Given the description of an element on the screen output the (x, y) to click on. 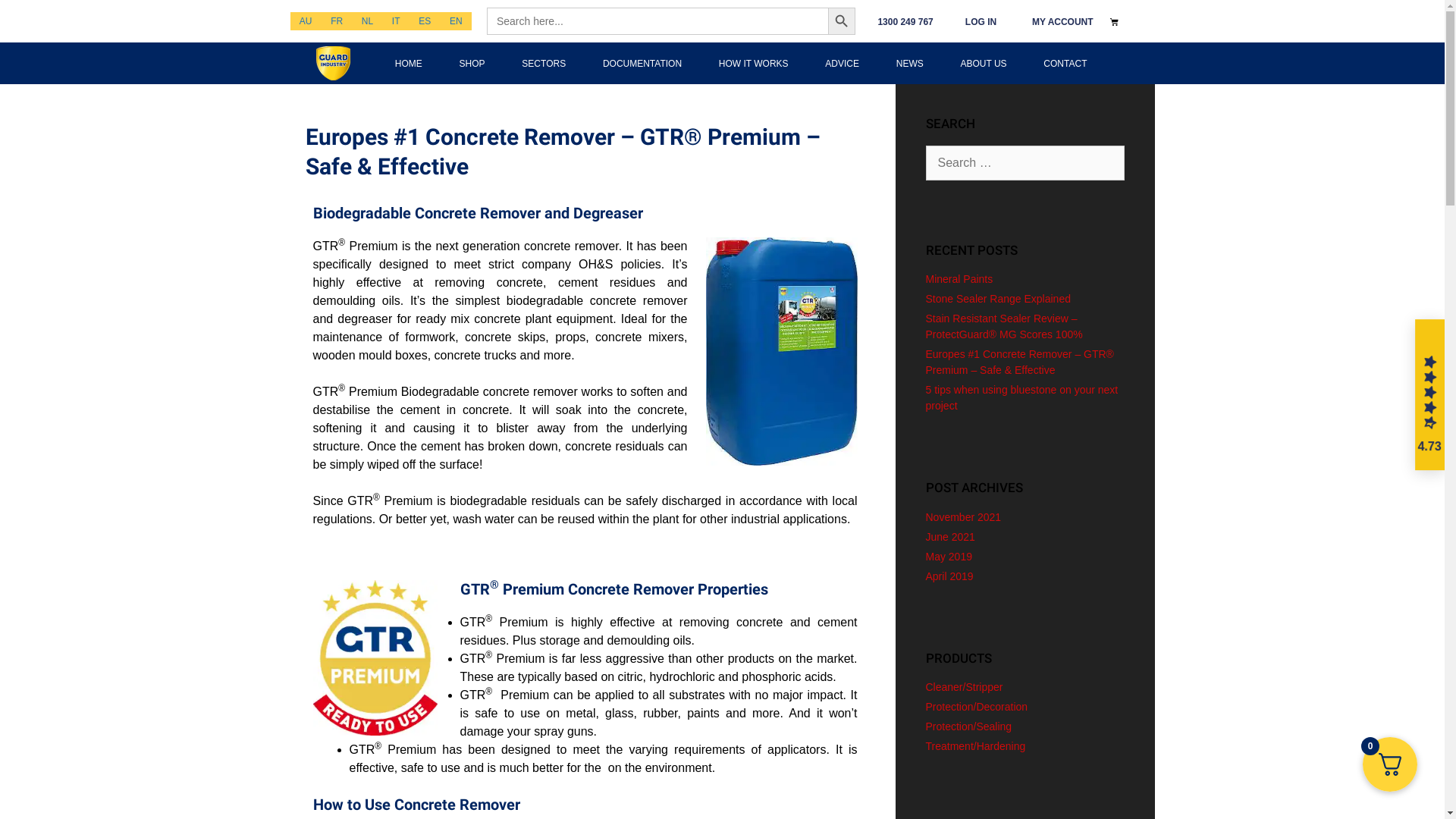
HOW IT WORKS Element type: text (752, 62)
FR Element type: text (336, 21)
ADVICE Element type: text (841, 62)
LOG IN Element type: text (980, 21)
Protection/Sealing Element type: text (968, 726)
MY ACCOUNT Element type: text (1062, 21)
Protection/Decoration Element type: text (976, 706)
Search for: Element type: hover (1024, 162)
Treatment/Hardening Element type: text (975, 746)
NEWS Element type: text (909, 62)
May 2019 Element type: text (948, 556)
IT Element type: text (395, 21)
Cleaner/Stripper Element type: text (963, 686)
NL Element type: text (367, 21)
EN Element type: text (455, 21)
SECTORS Element type: text (543, 62)
ABOUT US Element type: text (983, 62)
Search Element type: text (722, 16)
Search Button Element type: text (841, 20)
June 2021 Element type: text (949, 536)
AU Element type: text (304, 21)
CONTACT Element type: text (1065, 62)
April 2019 Element type: text (948, 576)
DOCUMENTATION Element type: text (642, 62)
Mineral Paints Element type: text (958, 279)
5 tips when using bluestone on your next project Element type: text (1021, 397)
HOME Element type: text (408, 62)
1300 249 767 Element type: text (904, 21)
ES Element type: text (424, 21)
November 2021 Element type: text (963, 517)
favicon (1) Element type: hover (333, 63)
Stone Sealer Range Explained Element type: text (997, 298)
SHOP Element type: text (471, 62)
